Given the description of an element on the screen output the (x, y) to click on. 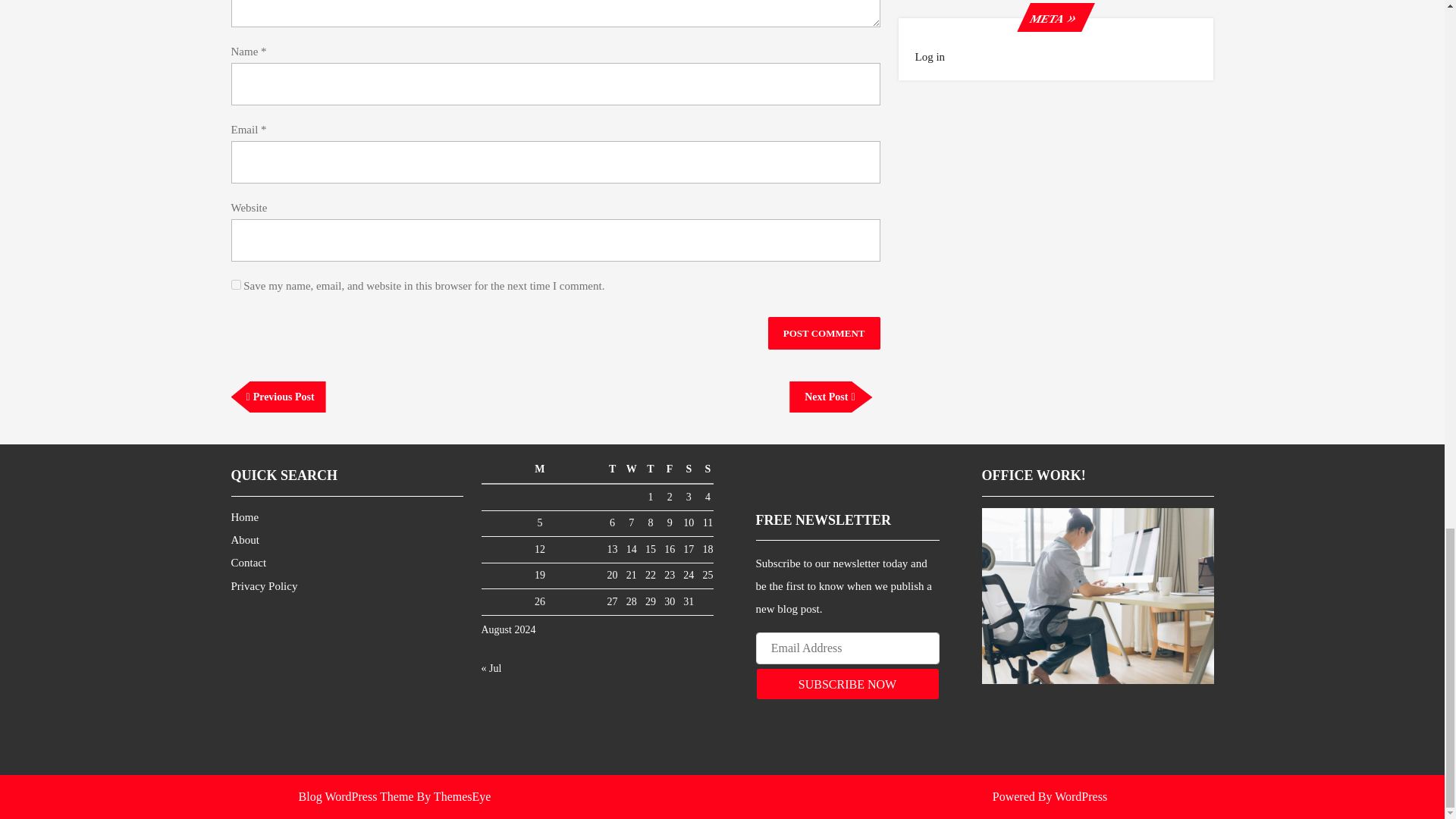
SUBSCRIBE NOW (847, 684)
Post Comment (277, 396)
Monday (824, 332)
Post Comment (541, 470)
yes (830, 396)
